Given the description of an element on the screen output the (x, y) to click on. 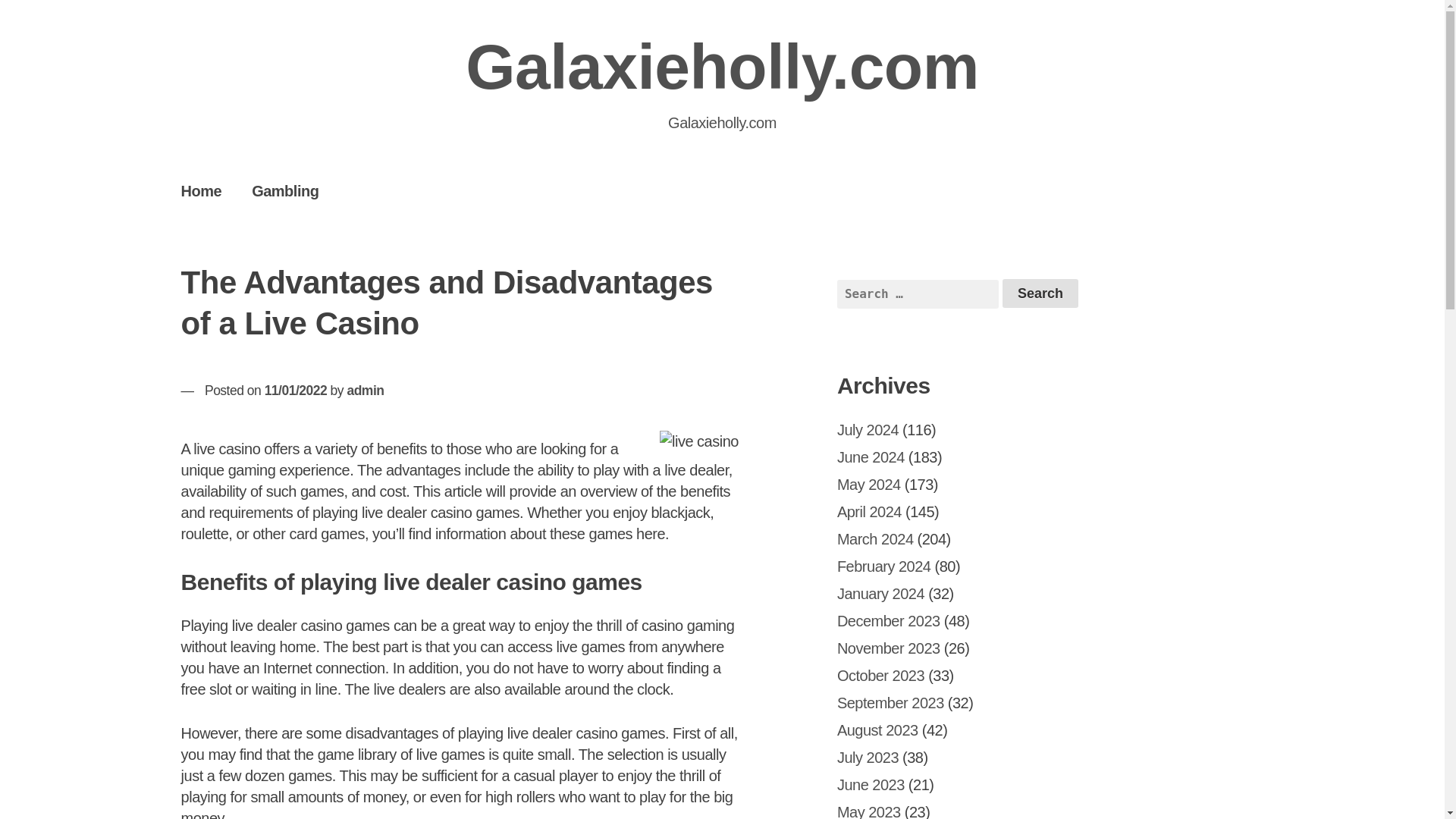
Gambling (284, 190)
February 2024 (884, 565)
Search (1040, 293)
June 2023 (870, 784)
April 2024 (869, 511)
August 2023 (877, 729)
Search (1040, 293)
May 2023 (869, 811)
September 2023 (890, 702)
December 2023 (888, 620)
June 2024 (870, 457)
November 2023 (888, 647)
January 2024 (880, 593)
July 2024 (867, 429)
October 2023 (880, 675)
